Given the description of an element on the screen output the (x, y) to click on. 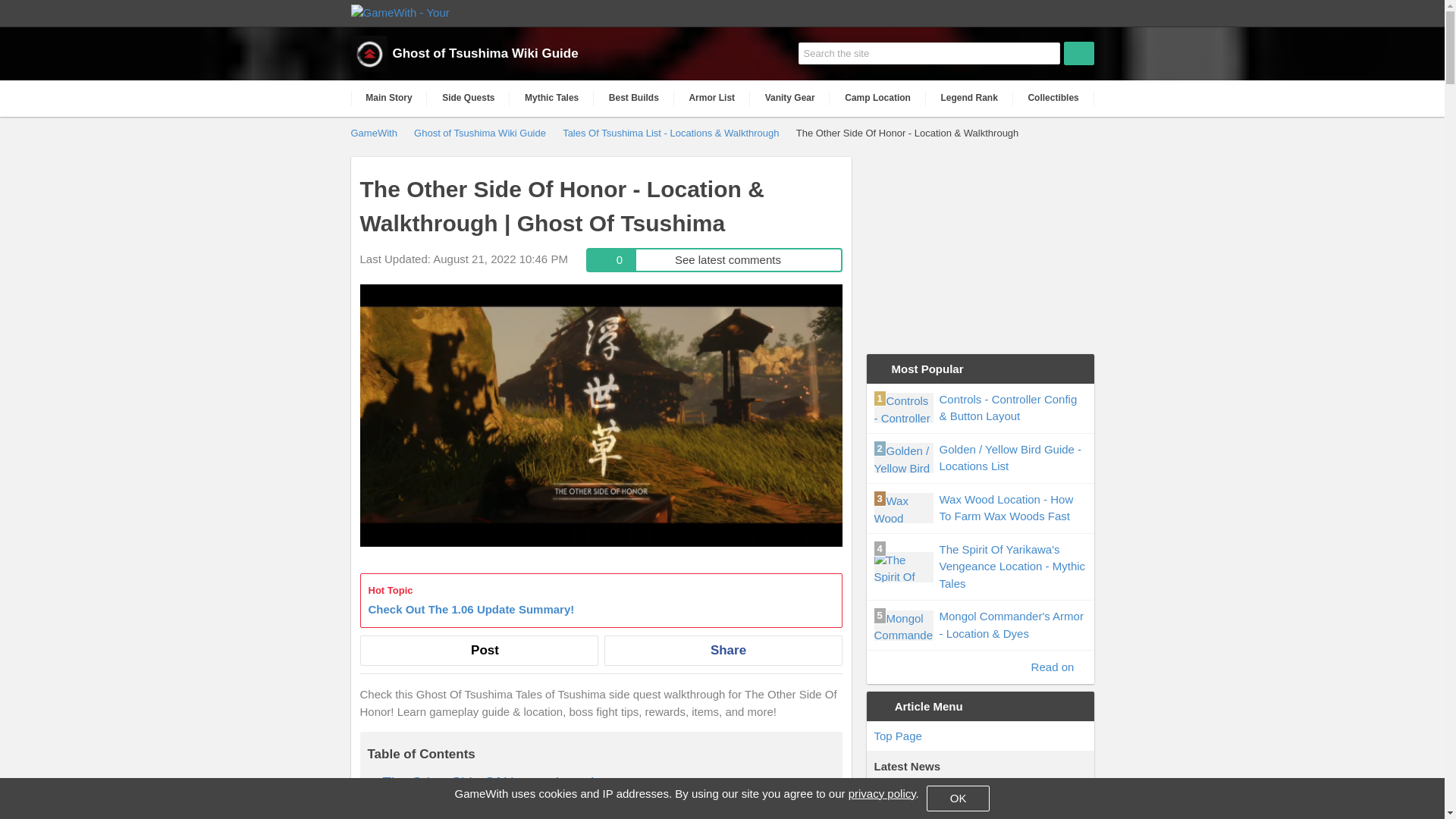
The Other Side Of Honor - Location (495, 781)
Ghost of Tsushima Wiki Guide (520, 54)
Post (477, 650)
Ghost of Tsushima Wiki Guide (480, 132)
Main Story (388, 98)
Best Builds (634, 98)
Legend Rank (600, 600)
Side Quests (969, 98)
Camp Location (467, 98)
